Given the description of an element on the screen output the (x, y) to click on. 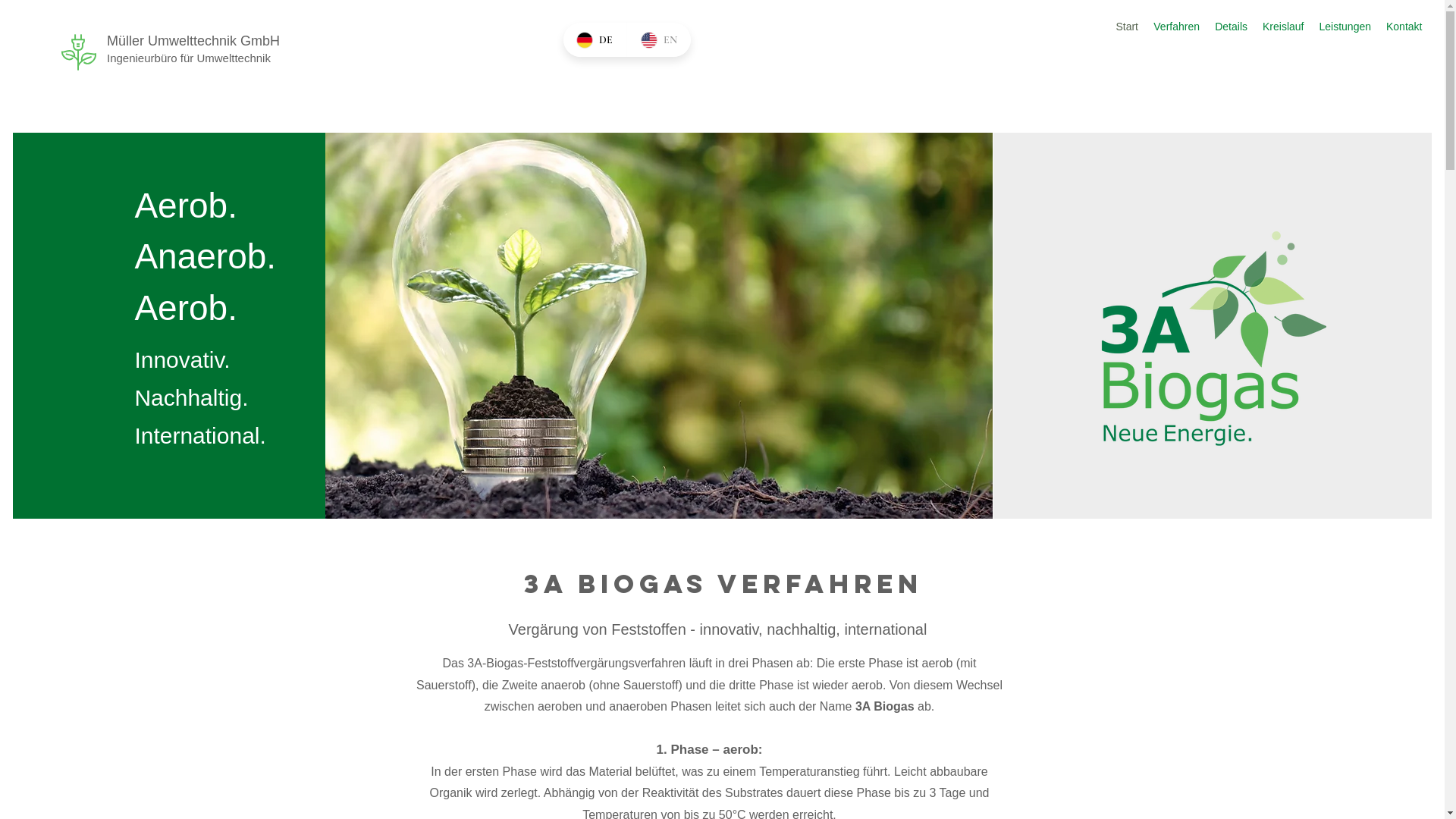
Kontakt Element type: text (1403, 26)
Leistungen Element type: text (1344, 26)
Start Element type: text (1126, 26)
EN Element type: text (658, 39)
DE Element type: text (594, 39)
Verfahren Element type: text (1176, 26)
Details Element type: text (1231, 26)
Kreislauf Element type: text (1283, 26)
